Given the description of an element on the screen output the (x, y) to click on. 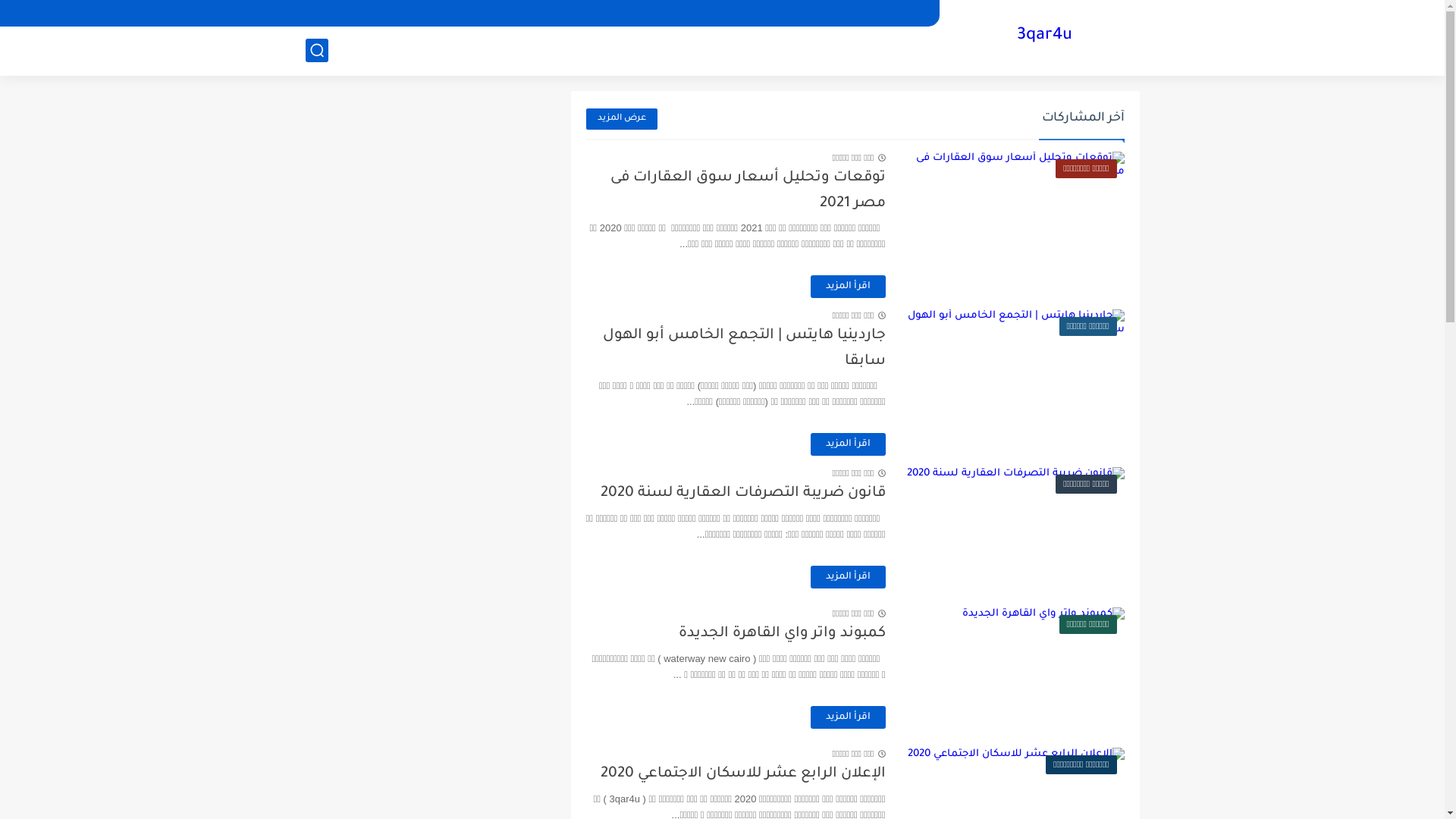
3qar4u Element type: text (1044, 36)
